Given the description of an element on the screen output the (x, y) to click on. 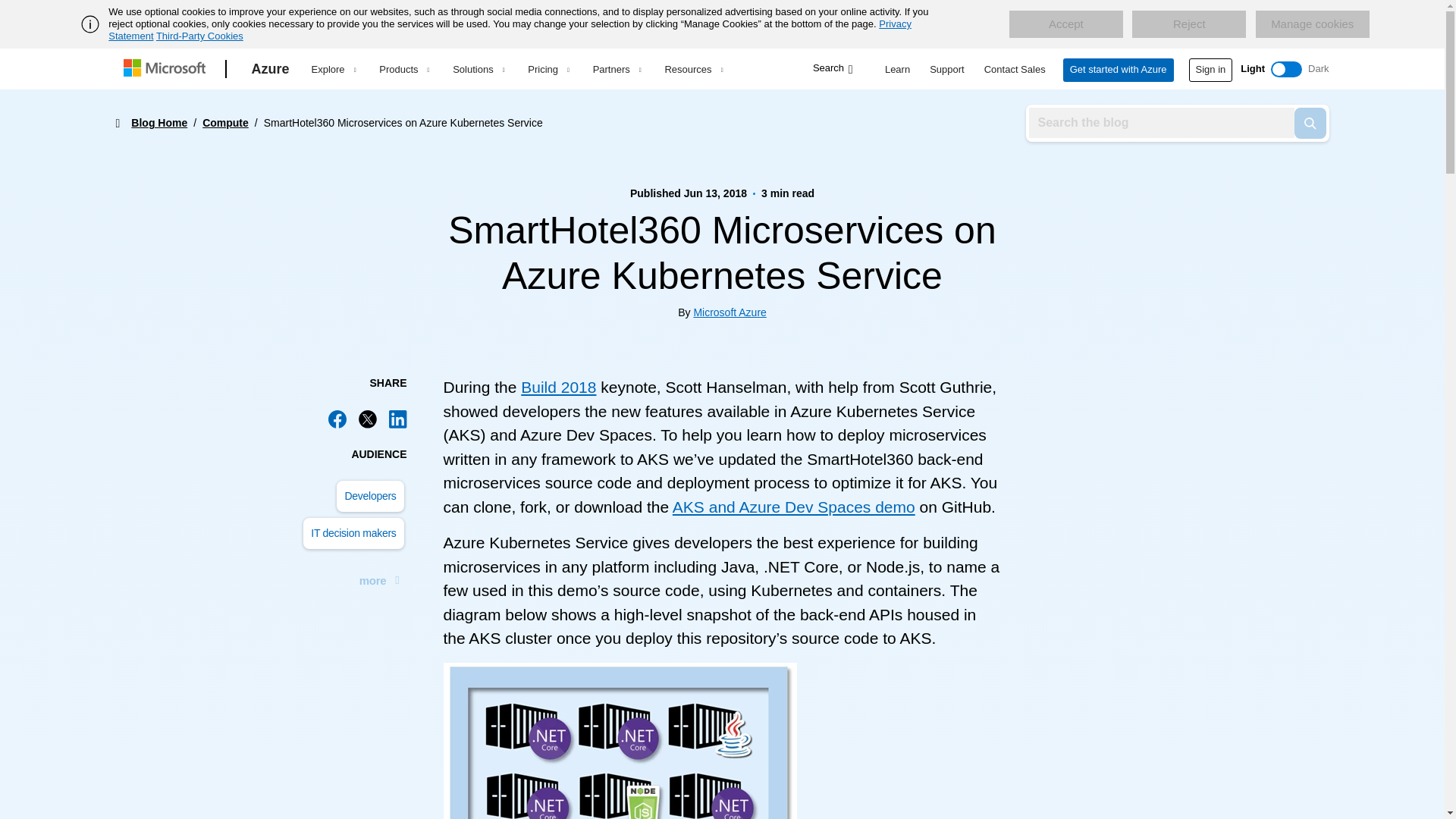
Accept (1065, 23)
Reject (1189, 23)
Privacy Statement (509, 29)
cluster (619, 740)
Manage cookies (1312, 23)
Products (403, 69)
Azure (270, 69)
Microsoft (167, 69)
Third-Party Cookies (199, 35)
Explore (333, 69)
